Given the description of an element on the screen output the (x, y) to click on. 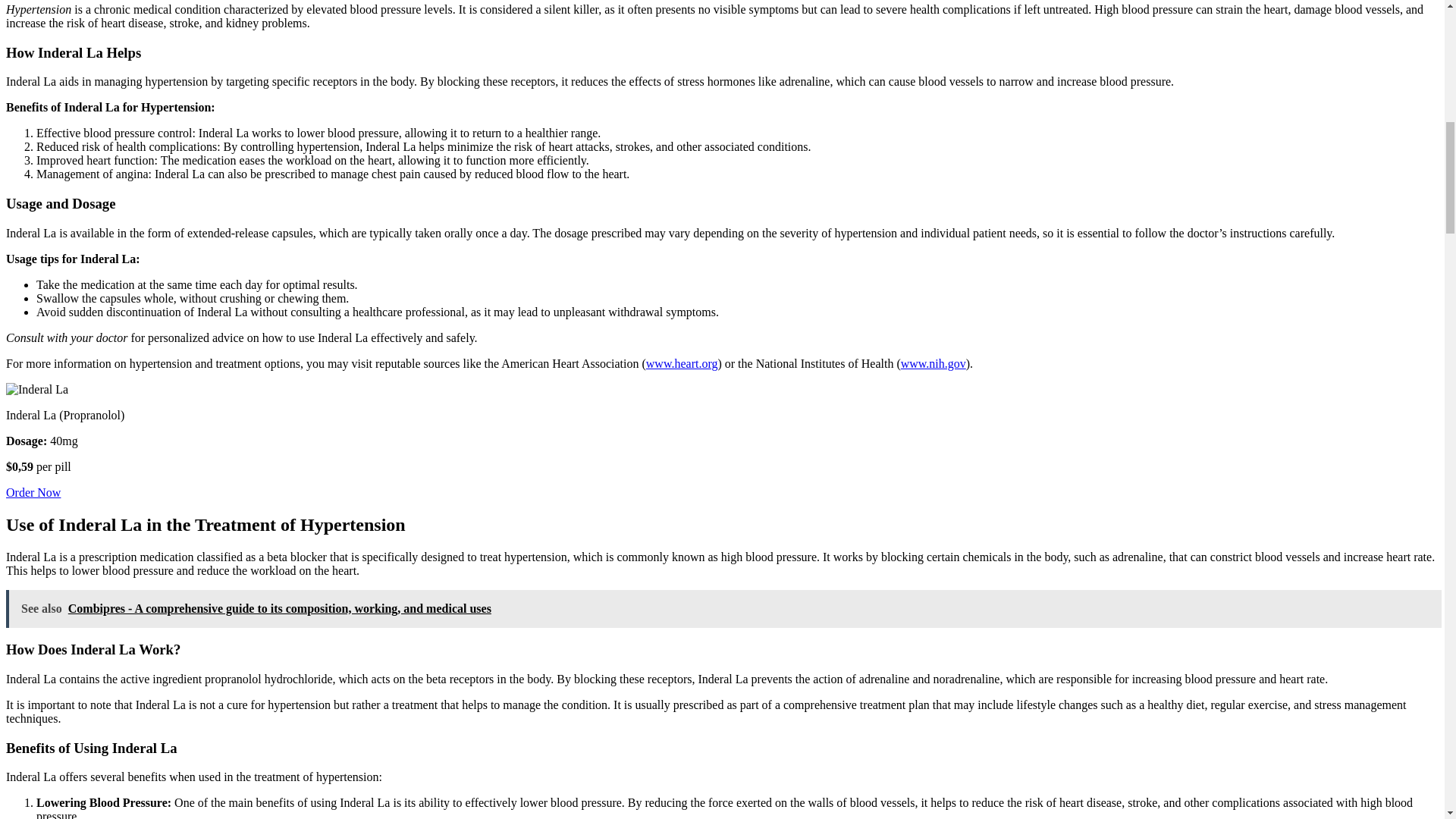
Order Now (33, 492)
www.nih.gov (933, 363)
www.heart.org (681, 363)
